Given the description of an element on the screen output the (x, y) to click on. 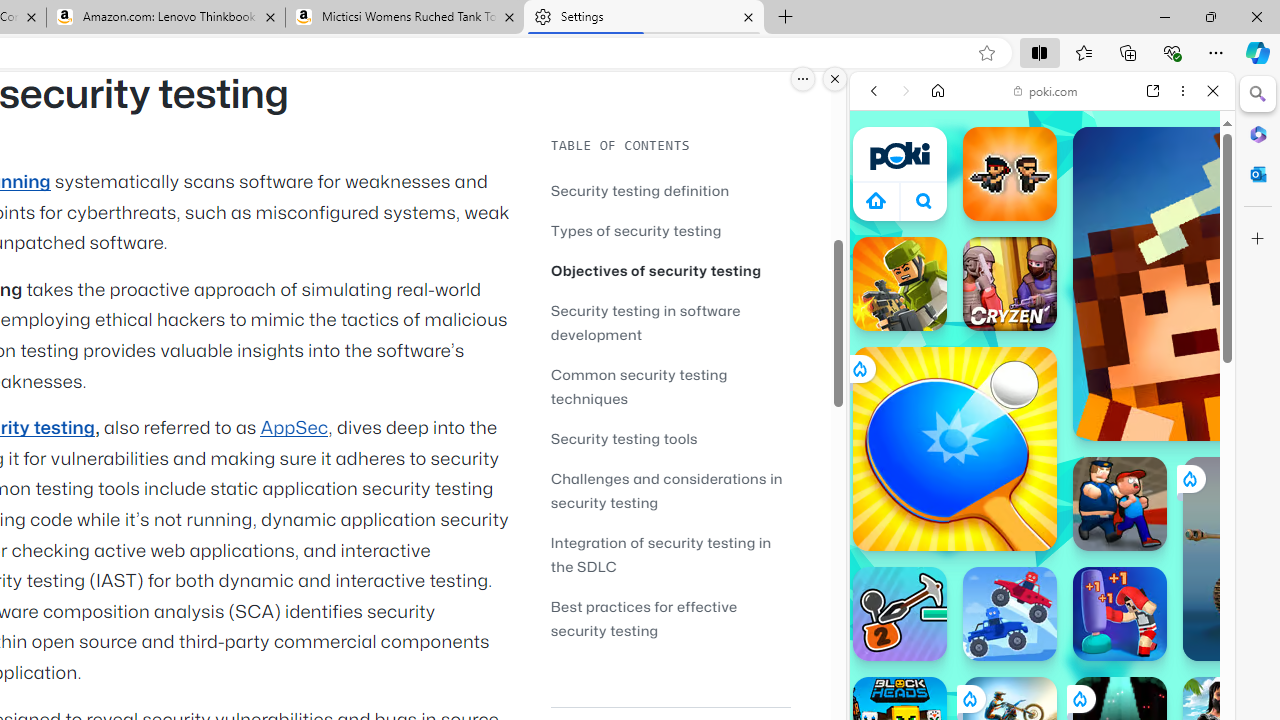
Io Games (1042, 617)
Poki - Free Online Games - Play Now! (1034, 309)
Stickman Climb 2 (899, 613)
More options. (803, 79)
Class: B_5ykBA46kDOxiz_R9wm (923, 200)
Challenges and considerations in security testing (666, 490)
Security testing tools (670, 438)
Poki (1034, 288)
